Given the description of an element on the screen output the (x, y) to click on. 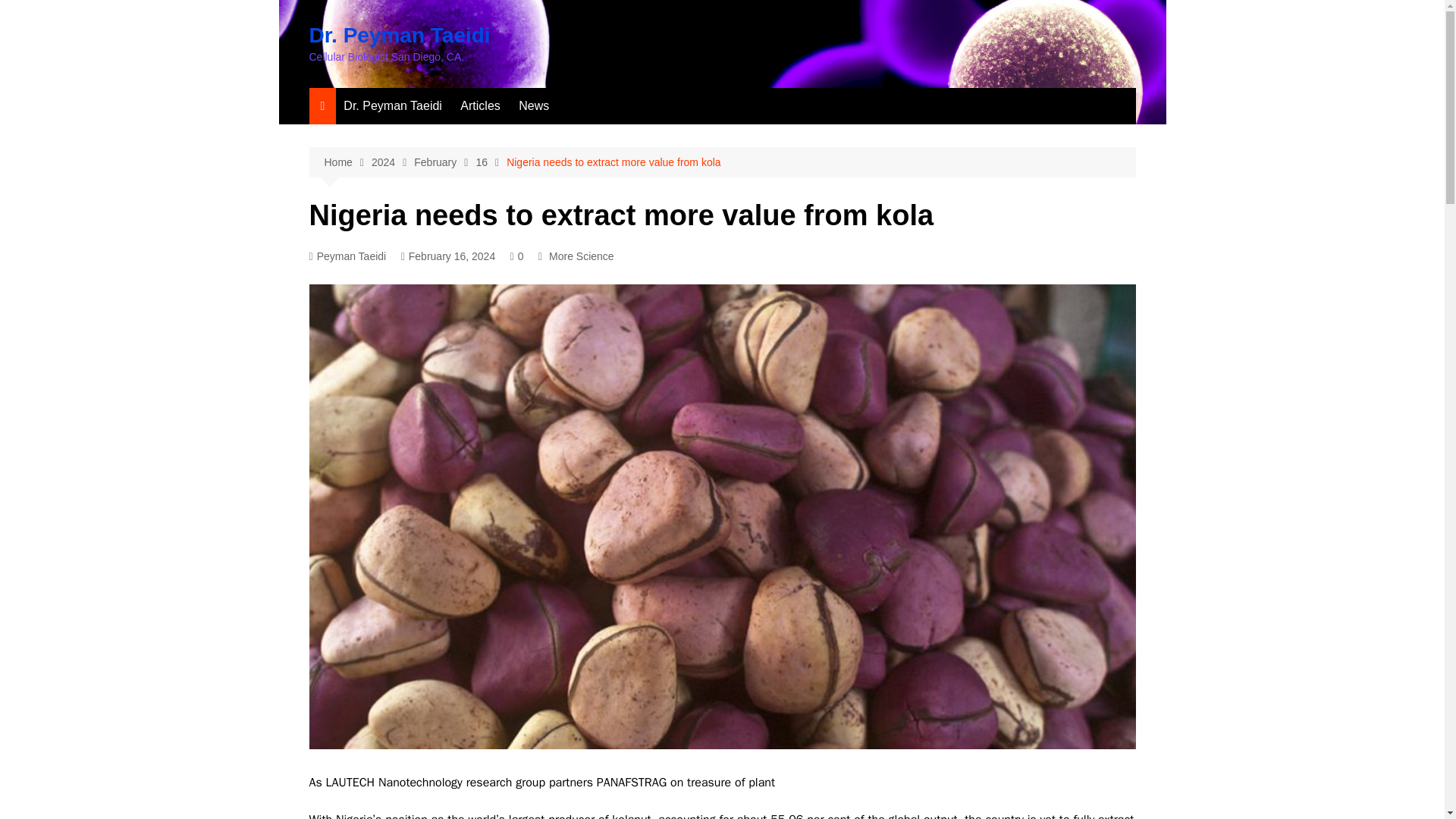
16 (491, 162)
News (533, 105)
Dr. Peyman Taeidi (399, 34)
0 (517, 256)
Home (347, 162)
Nigeria needs to extract more value from kola (613, 161)
2024 (392, 162)
BIO (392, 105)
February (444, 162)
February 16, 2024 (448, 256)
Peyman Taeidi (347, 256)
More Science (581, 256)
Articles (479, 105)
Dr. Peyman Taeidi (392, 105)
